Given the description of an element on the screen output the (x, y) to click on. 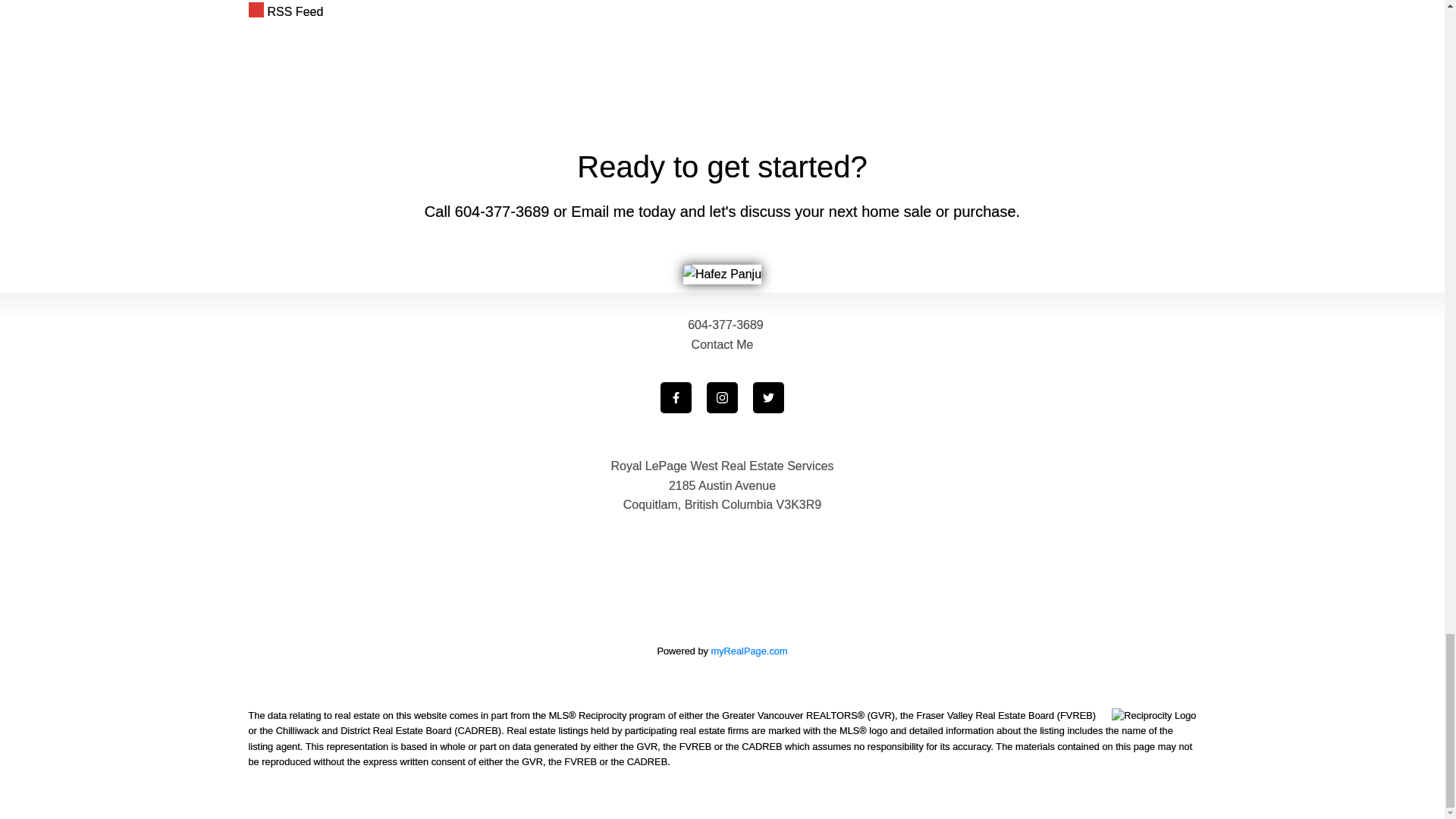
RSS (616, 12)
